Given the description of an element on the screen output the (x, y) to click on. 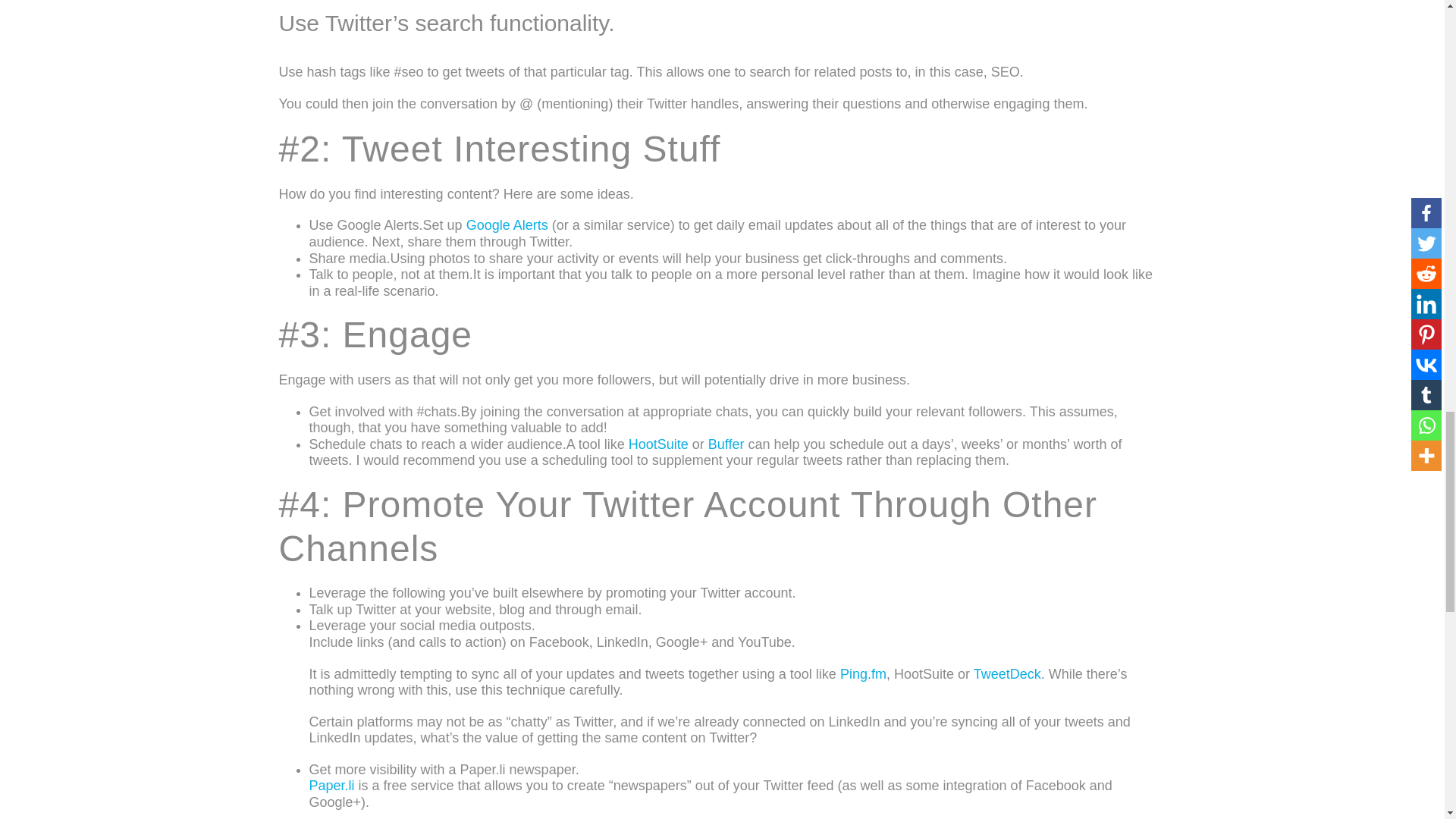
Paper.li (331, 785)
HootSuite (658, 444)
Buffer (725, 444)
Google Alerts (506, 224)
Ping.fm (863, 672)
TweetDeck (1007, 672)
